Given the description of an element on the screen output the (x, y) to click on. 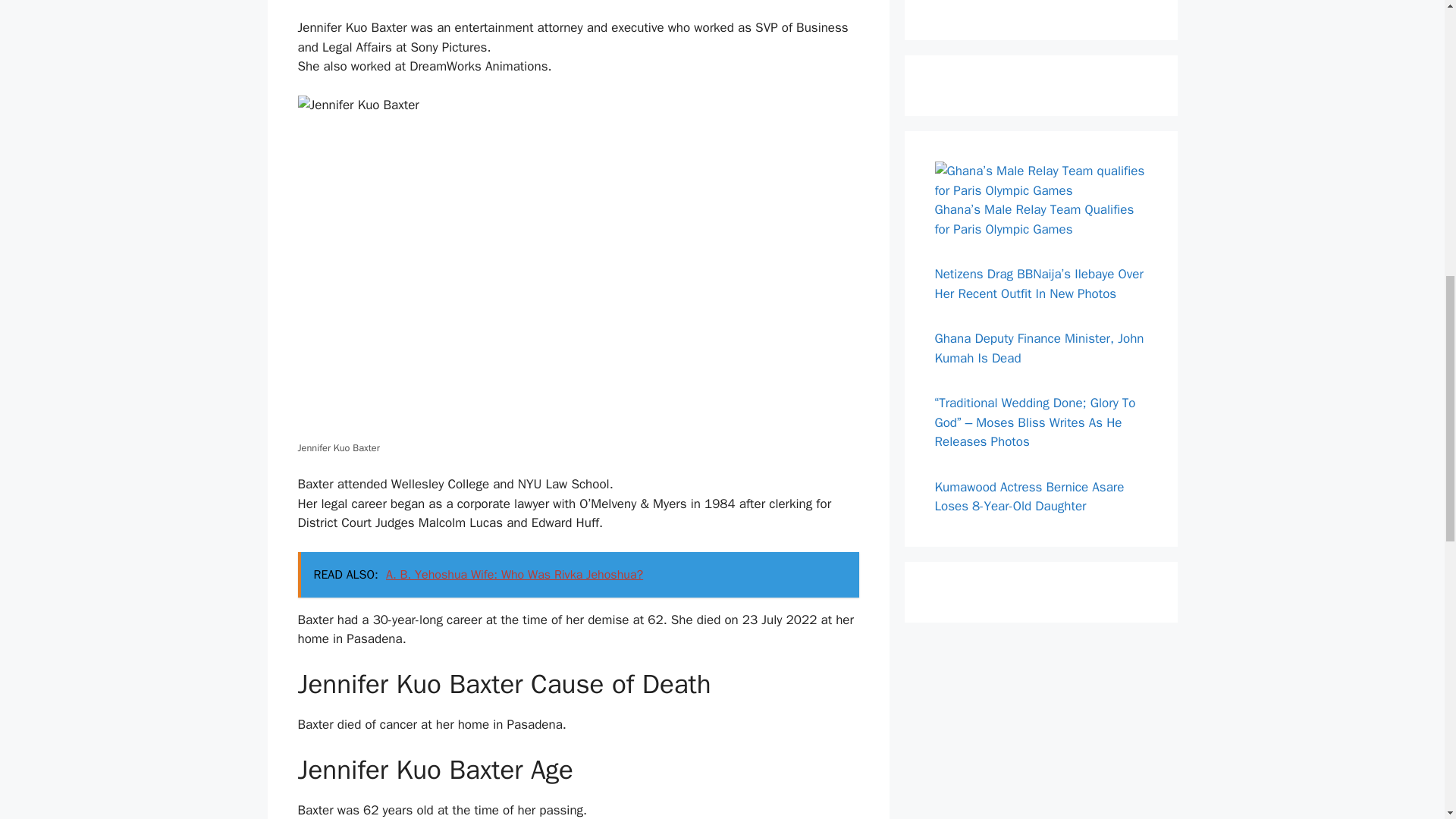
Ghana Deputy Finance Minister, John Kumah Is Dead (1038, 348)
READ ALSO:  A. B. Yehoshua Wife: Who Was Rivka Jehoshua? (578, 574)
Kumawood Actress Bernice Asare Loses 8-Year-Old Daughter (1029, 497)
